Given the description of an element on the screen output the (x, y) to click on. 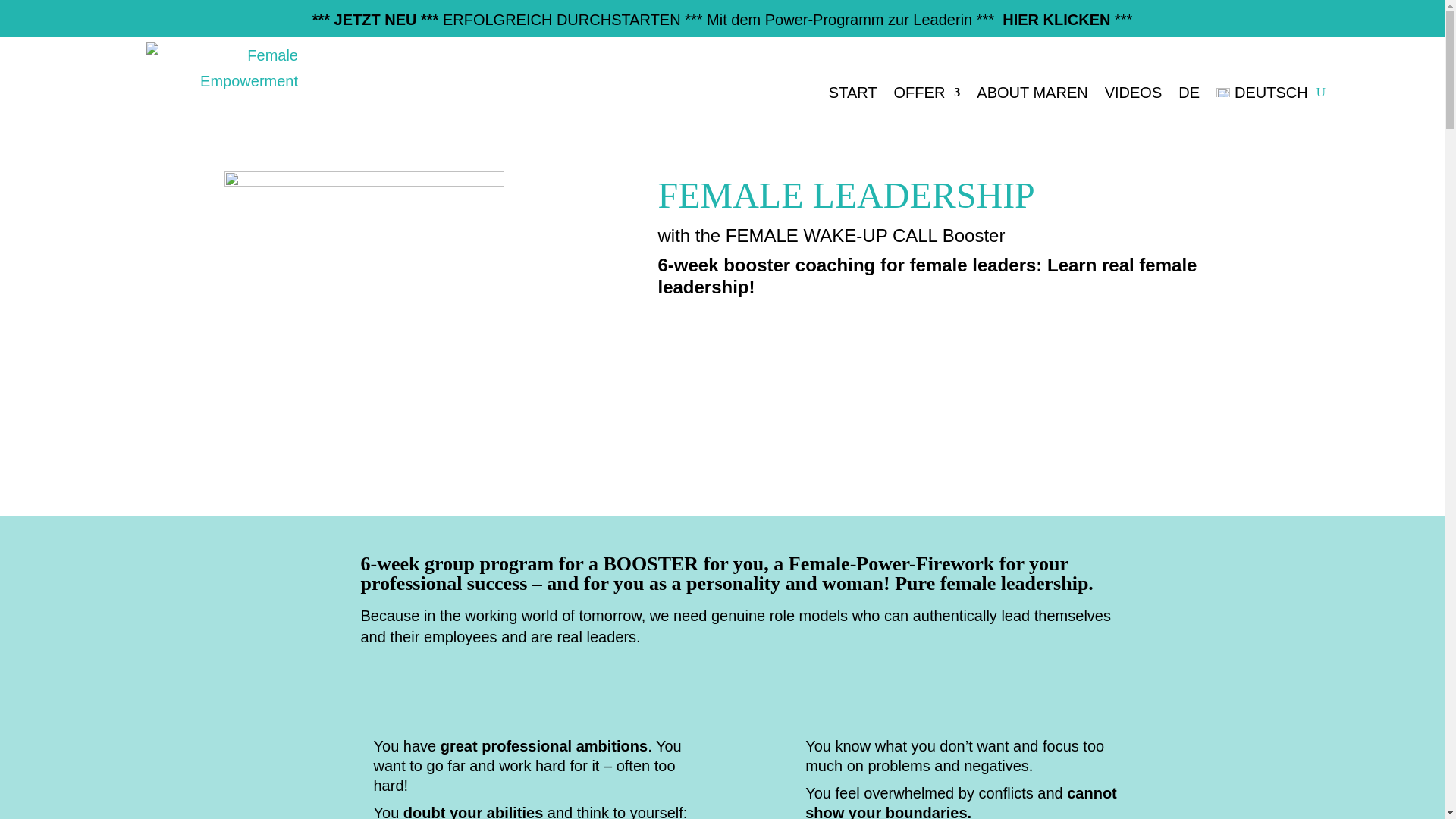
Deutsch (1261, 91)
ABOUT MAREN (1031, 91)
DEUTSCH (1261, 91)
